Given the description of an element on the screen output the (x, y) to click on. 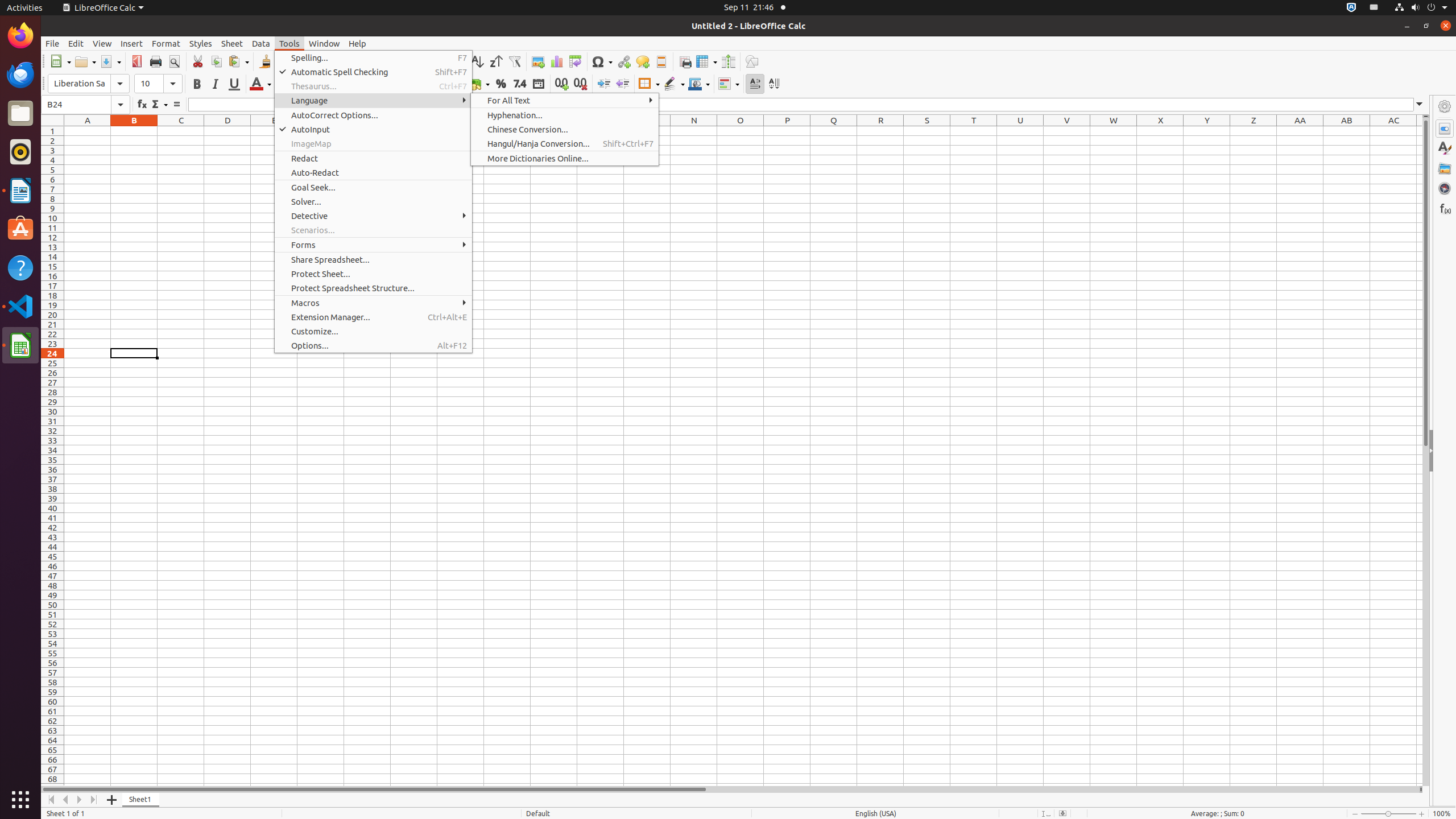
Navigator Element type: radio-button (1444, 188)
P1 Element type: table-cell (786, 130)
Font Name Element type: combo-box (88, 83)
Goal Seek... Element type: menu-item (373, 187)
